Given the description of an element on the screen output the (x, y) to click on. 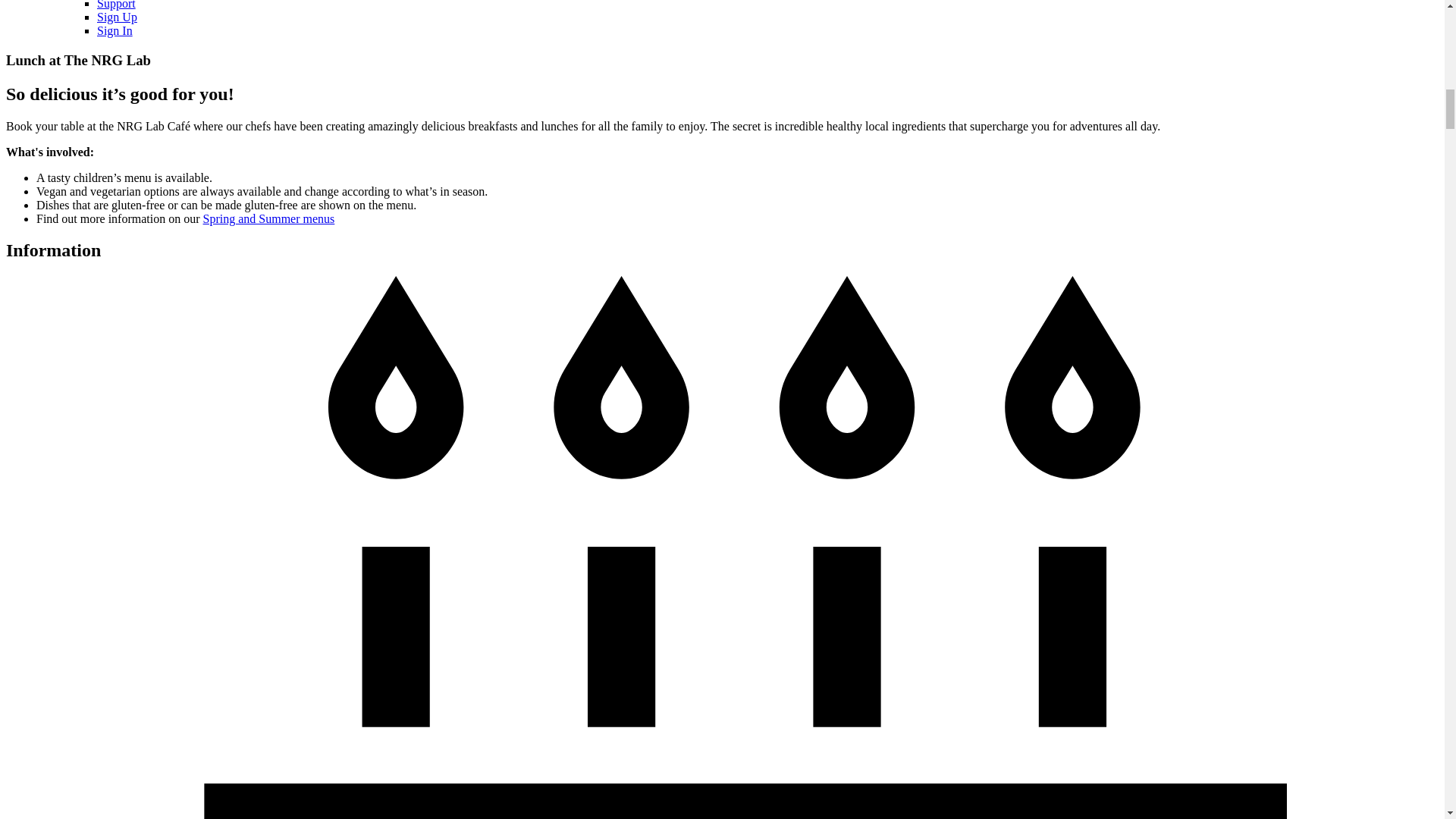
Support (116, 4)
Sign In (114, 30)
Spring and Summer menus (268, 218)
Spring and Summer menus (268, 218)
Sign Up (116, 16)
